Given the description of an element on the screen output the (x, y) to click on. 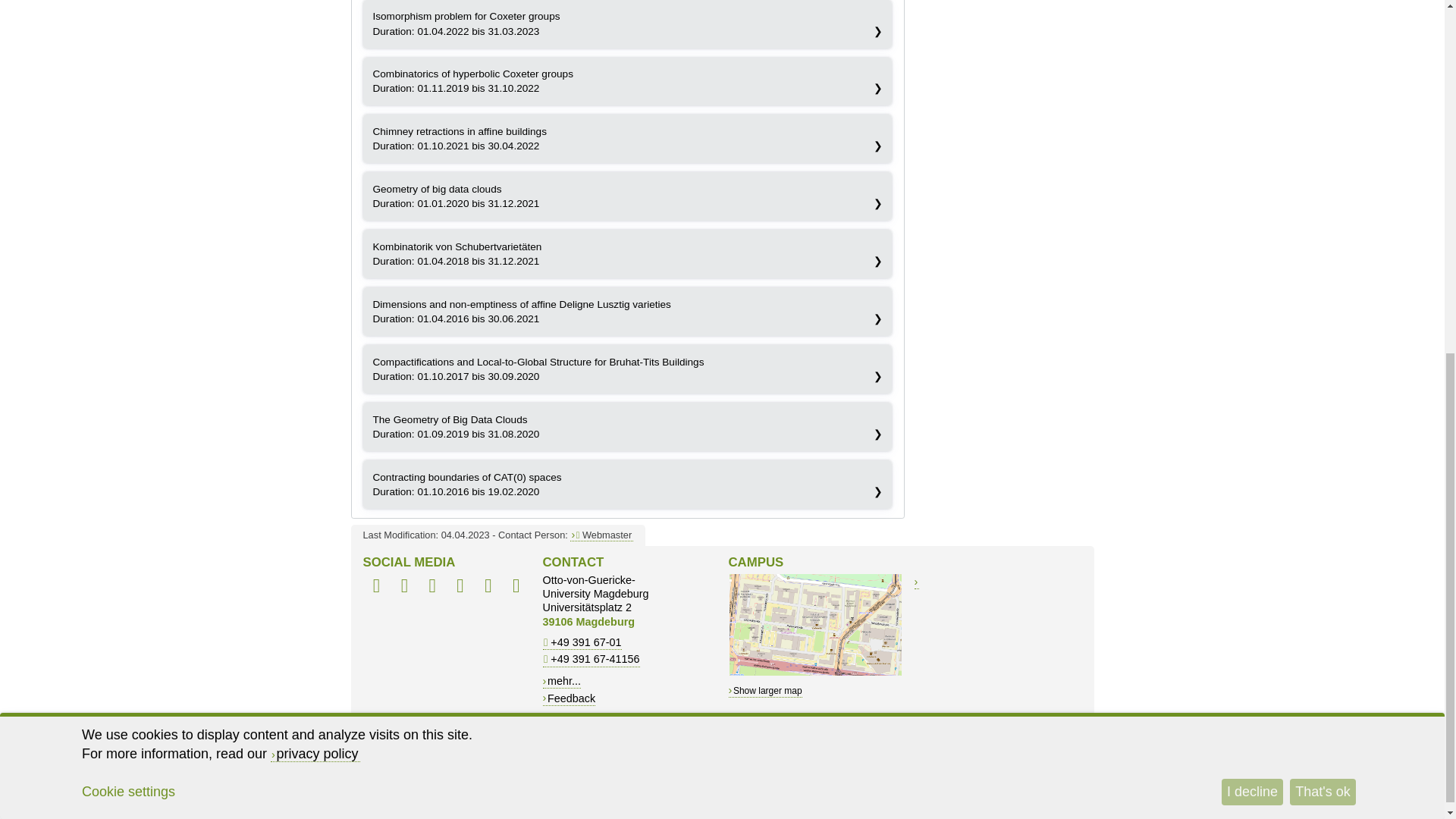
Instagram (515, 586)
YouTube (488, 586)
Xing (460, 586)
Facebook (376, 586)
LinkedIn (432, 586)
Contact us (601, 534)
